Given the description of an element on the screen output the (x, y) to click on. 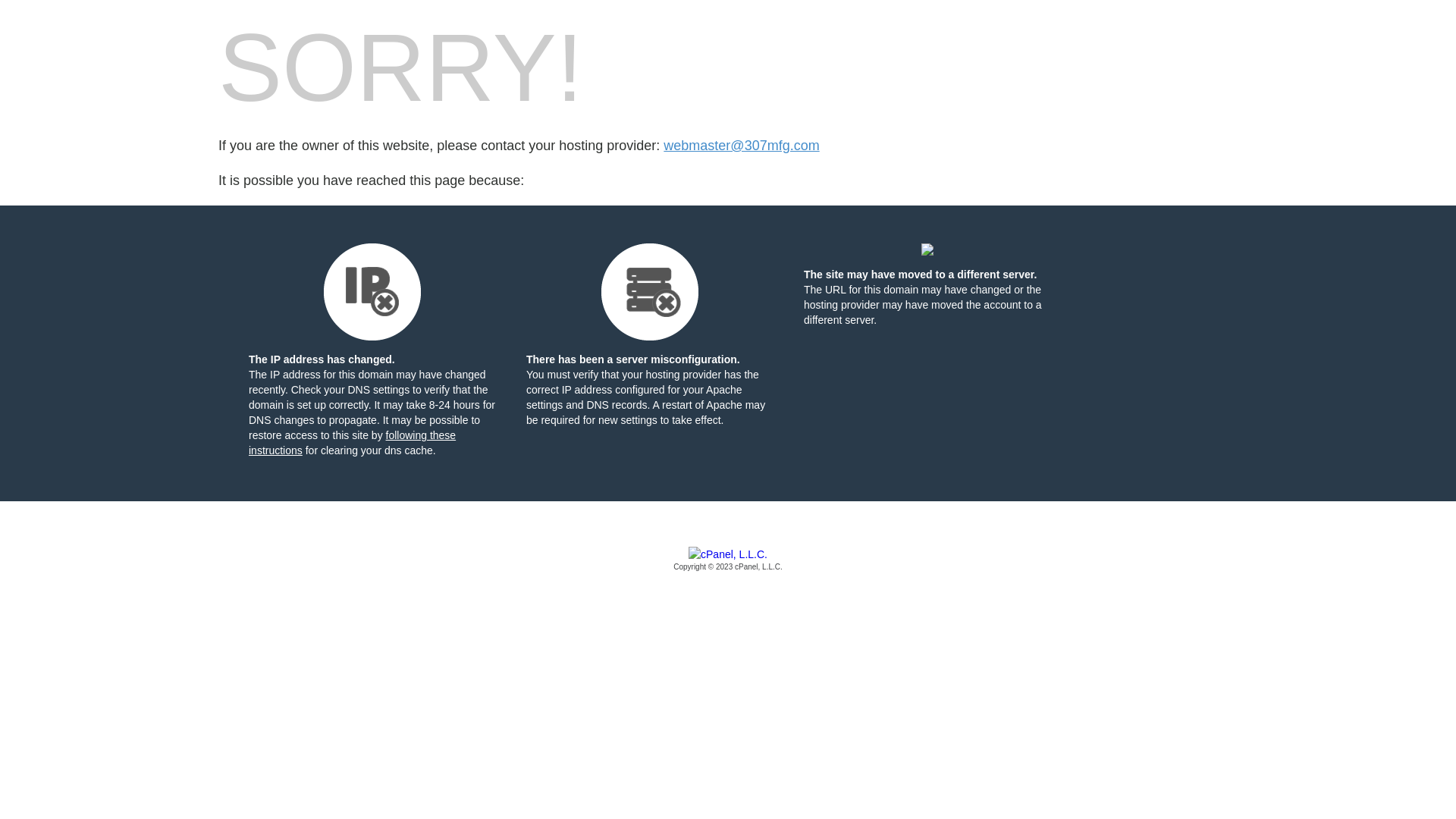
webmaster@307mfg.com Element type: text (741, 145)
following these instructions Element type: text (351, 442)
